Given the description of an element on the screen output the (x, y) to click on. 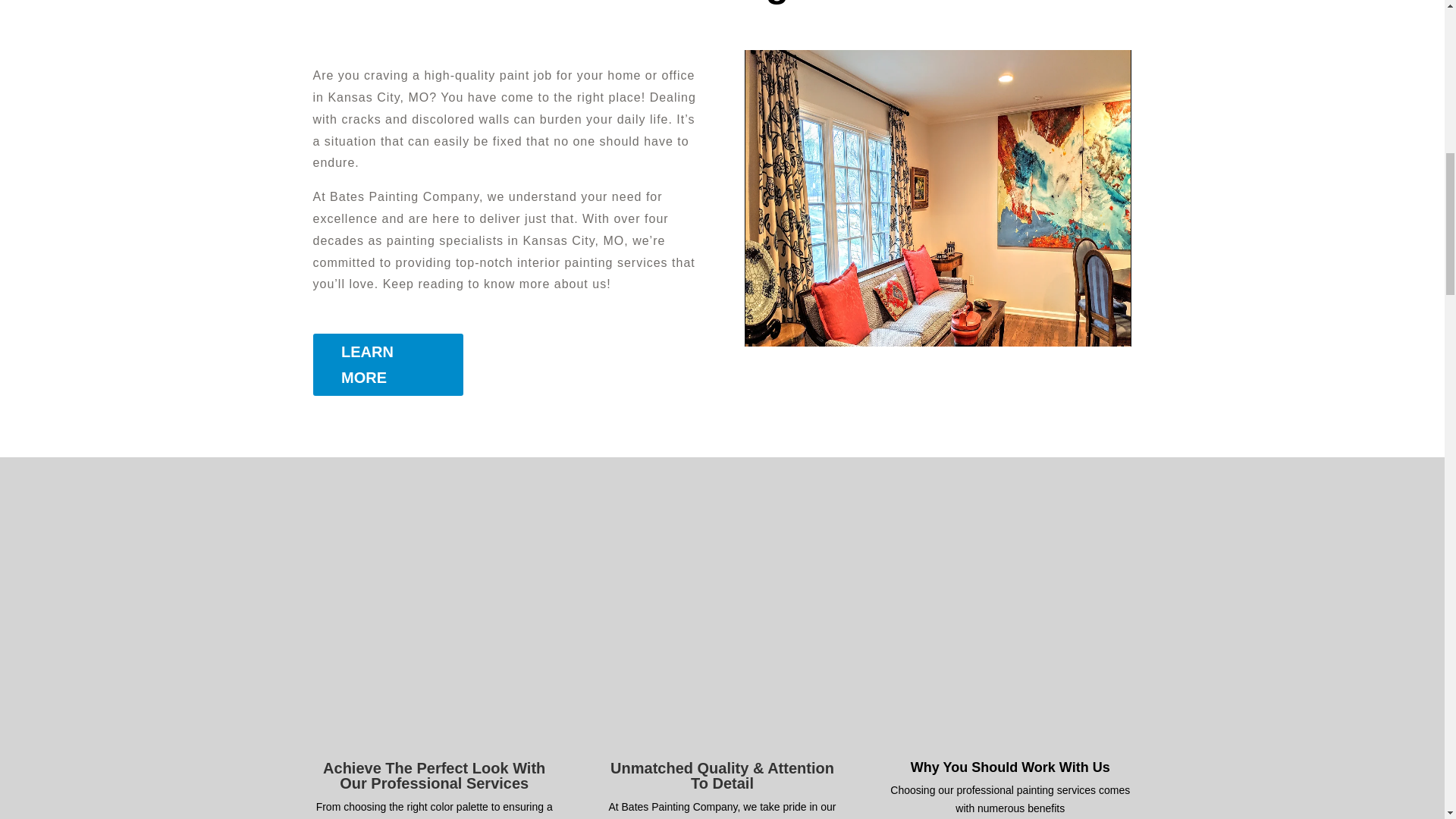
Interior Painting Services in Kansas City, MO 3 (1009, 669)
background (937, 197)
Interior Painting Services in Kansas City, MO 2 (721, 669)
Interior Painting Services in Kansas City, MO 1 (433, 669)
LEARN MORE (388, 364)
